Given the description of an element on the screen output the (x, y) to click on. 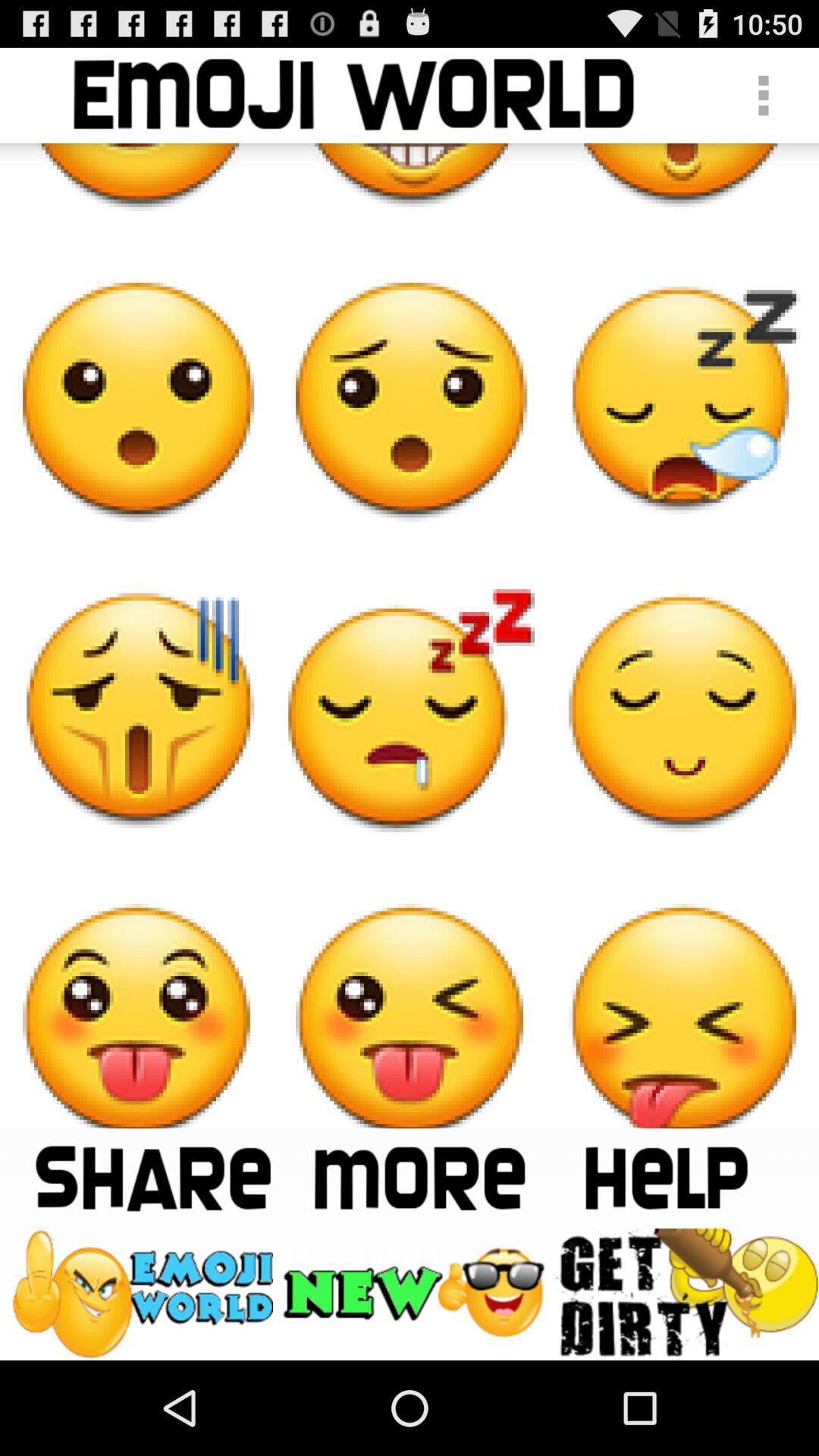
get help (665, 1177)
